Given the description of an element on the screen output the (x, y) to click on. 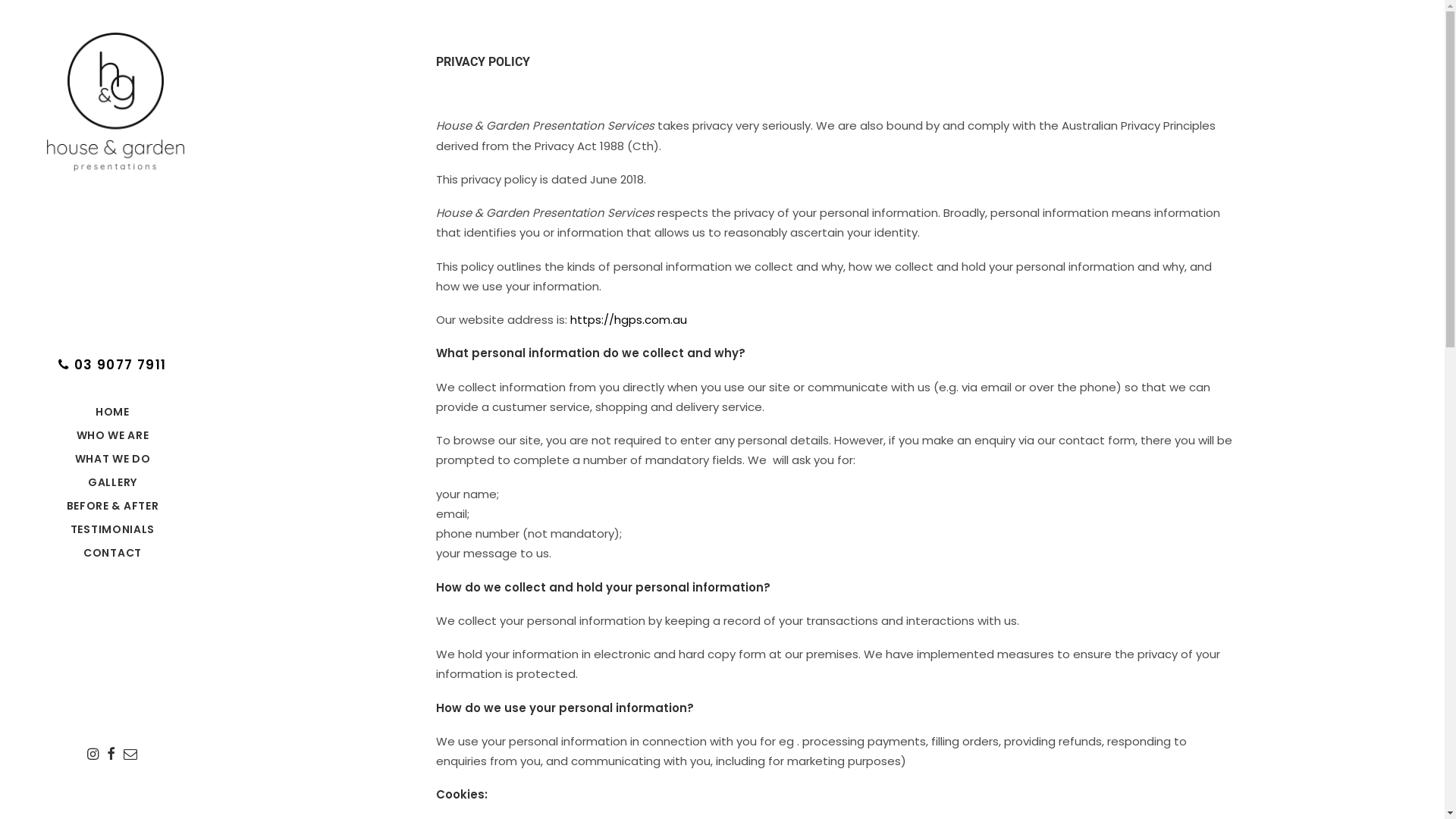
https://hgps.com.au Element type: text (628, 319)
